Given the description of an element on the screen output the (x, y) to click on. 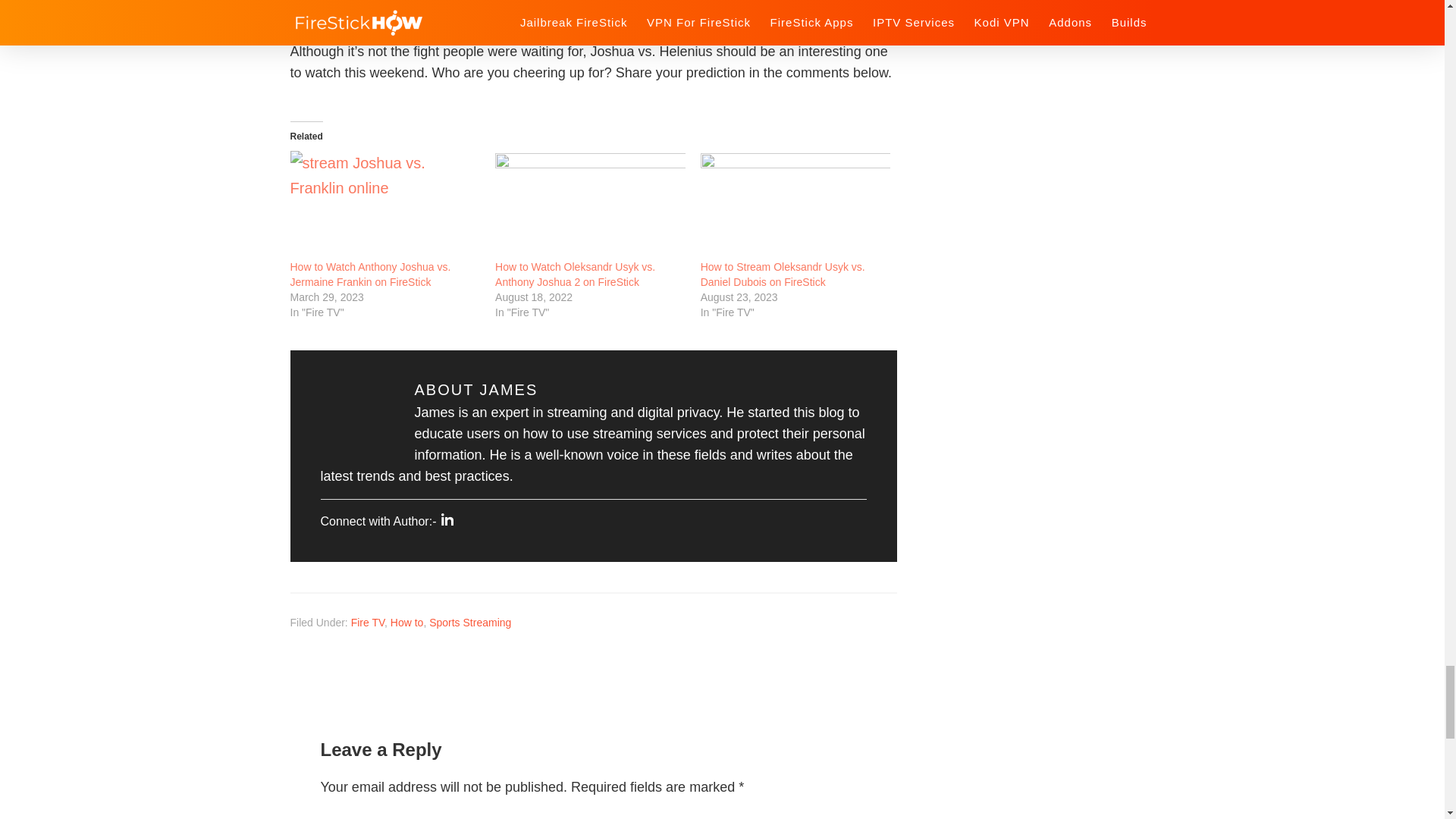
Sports Streaming (470, 622)
How to Stream Oleksandr Usyk vs. Daniel Dubois on FireStick (782, 274)
How to Stream Oleksandr Usyk vs. Daniel Dubois on FireStick (795, 204)
Fire TV (367, 622)
How to Stream Oleksandr Usyk vs. Daniel Dubois on FireStick (782, 274)
How to (406, 622)
